Given the description of an element on the screen output the (x, y) to click on. 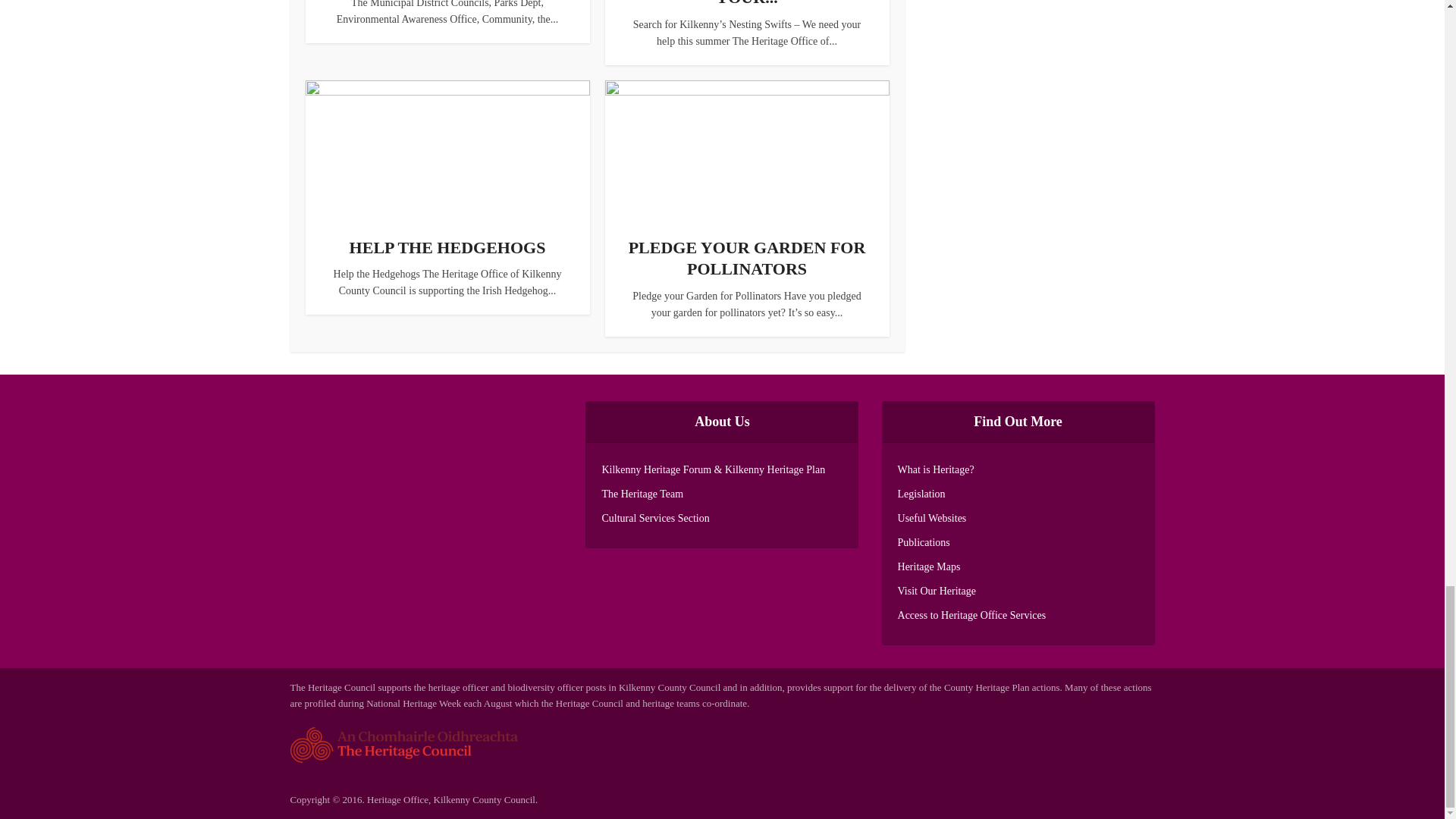
Help the Hedgehogs (447, 247)
Pledge your Garden for Pollinators (747, 258)
PLEDGE YOUR GARDEN FOR POLLINATORS (747, 258)
HELP THE HEDGEHOGS (447, 247)
